Given the description of an element on the screen output the (x, y) to click on. 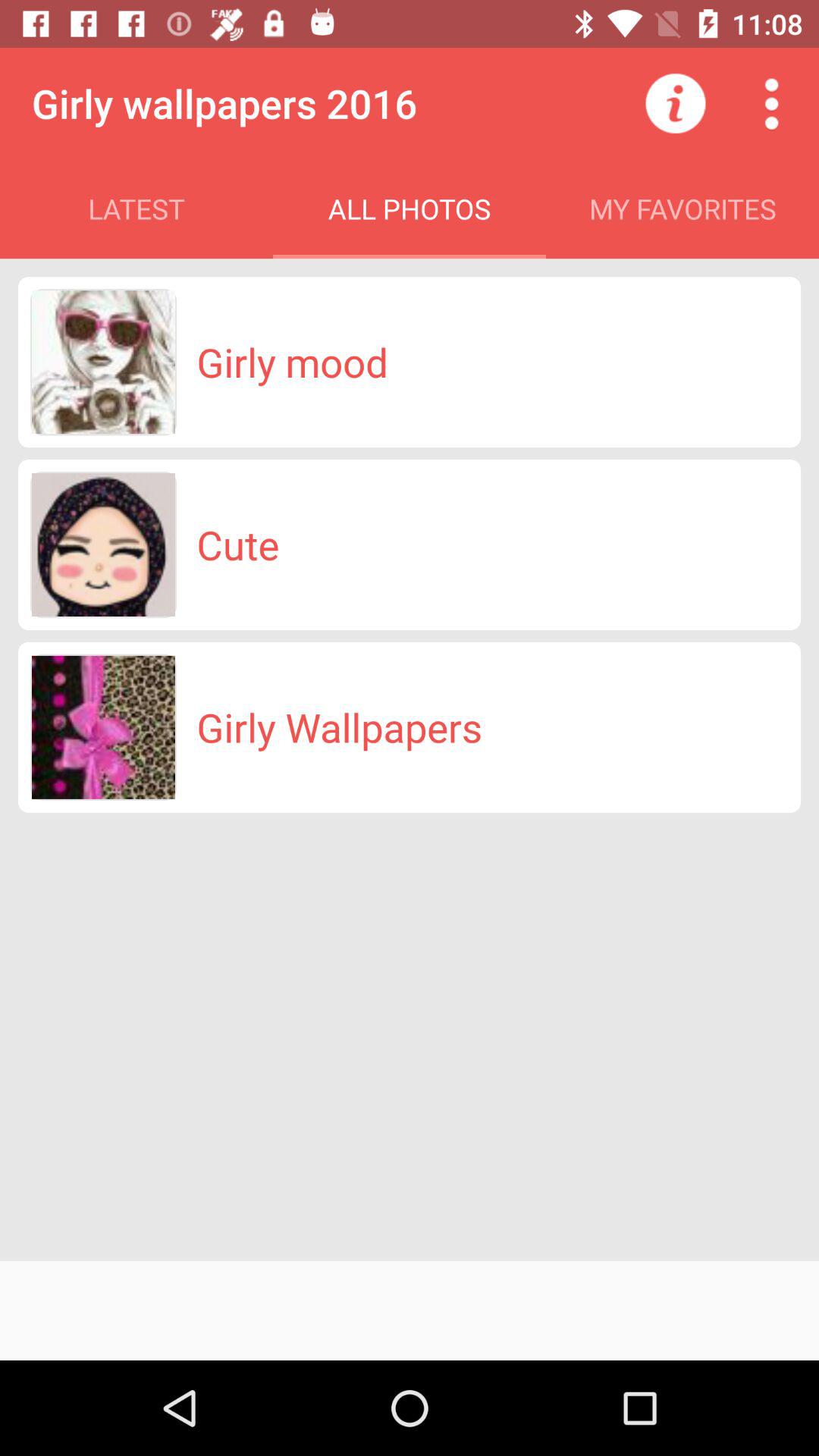
click the item above my favorites (771, 103)
